Given the description of an element on the screen output the (x, y) to click on. 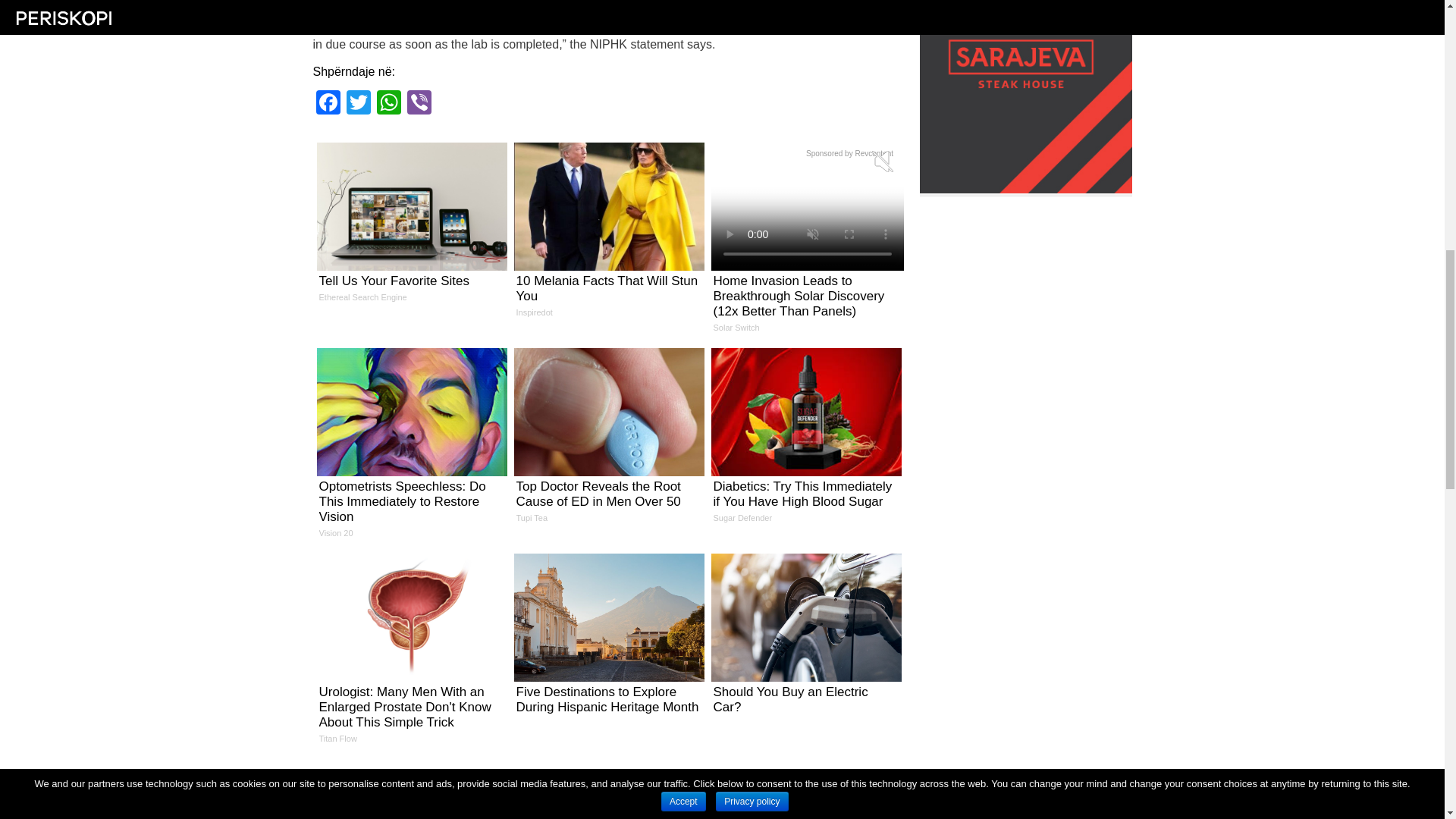
Five Destinations to Explore During Hispanic Heritage Month (608, 639)
Should You Buy an Electric Car? (805, 639)
10 Melania Facts That Will Stun You (608, 235)
Should You Buy an Electric Car? (805, 639)
Twitter (608, 235)
Five Destinations to Explore During Hispanic Heritage Month (411, 227)
Top Doctor Reveals the Root Cause of ED in Men Over 50 (357, 103)
Facebook (608, 639)
Tell Us Your Favorite Sites (608, 440)
Viber (327, 103)
